Given the description of an element on the screen output the (x, y) to click on. 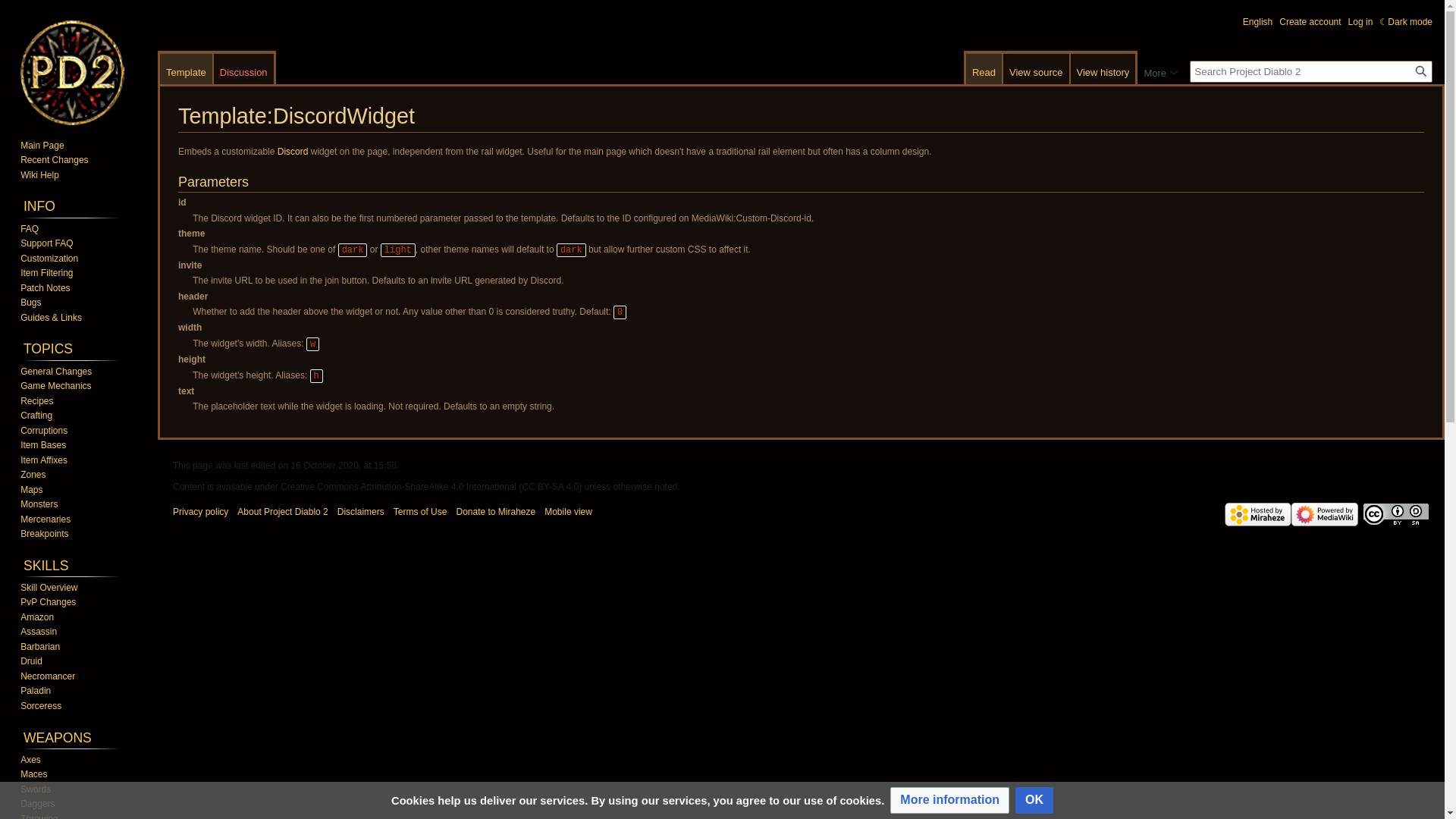
Search the pages for this text (1420, 71)
Read (983, 69)
Item Bases (42, 444)
Template (186, 69)
Recipes (36, 400)
View source (1035, 69)
FAQ (29, 228)
Recent Changes (53, 159)
More options (1160, 69)
